Given the description of an element on the screen output the (x, y) to click on. 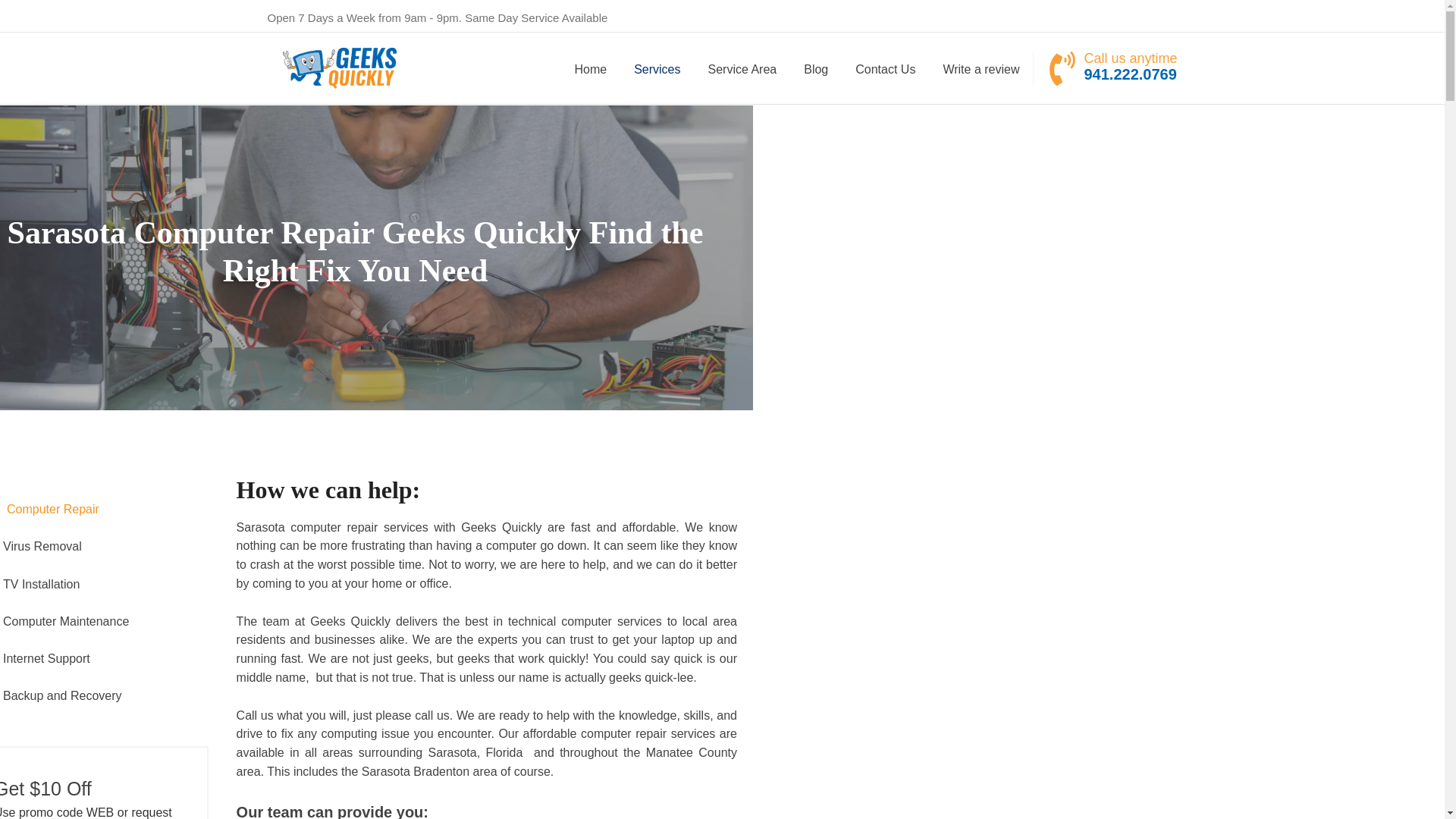
Services (657, 69)
Virus Removal (104, 546)
Service Area (742, 69)
Backup and Recovery (104, 695)
Blog (815, 69)
Home (590, 69)
941.222.0769 (1129, 74)
TV Installation (104, 583)
Computer Maintenance (104, 620)
Computer Repair (104, 508)
